Given the description of an element on the screen output the (x, y) to click on. 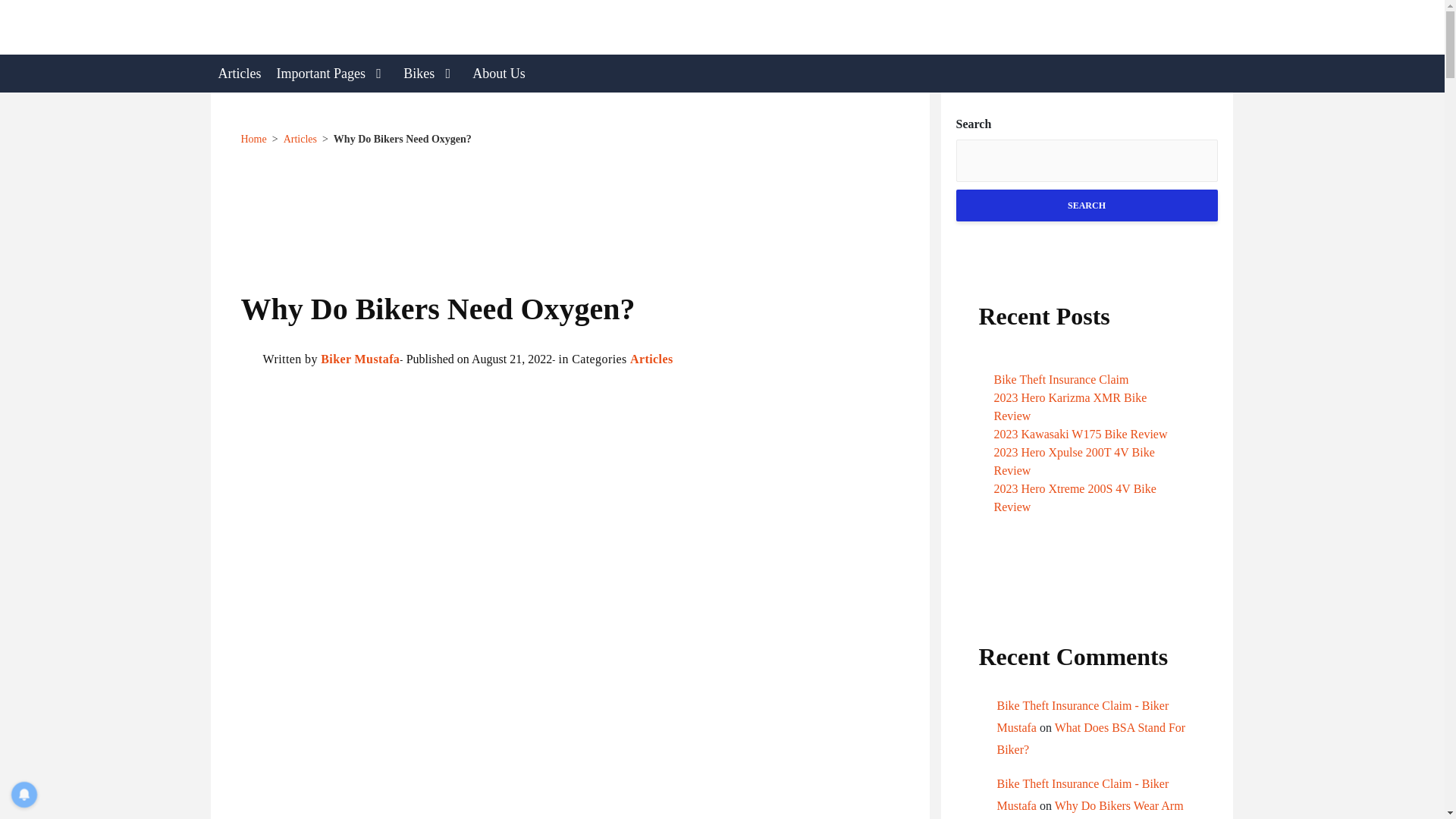
Bikes (430, 73)
Important Pages (331, 73)
Articles (240, 73)
About Us (498, 73)
Home (253, 138)
Posts by Biker Mustafa (359, 358)
Why Do Bikers Need Oxygen? (402, 138)
